Given the description of an element on the screen output the (x, y) to click on. 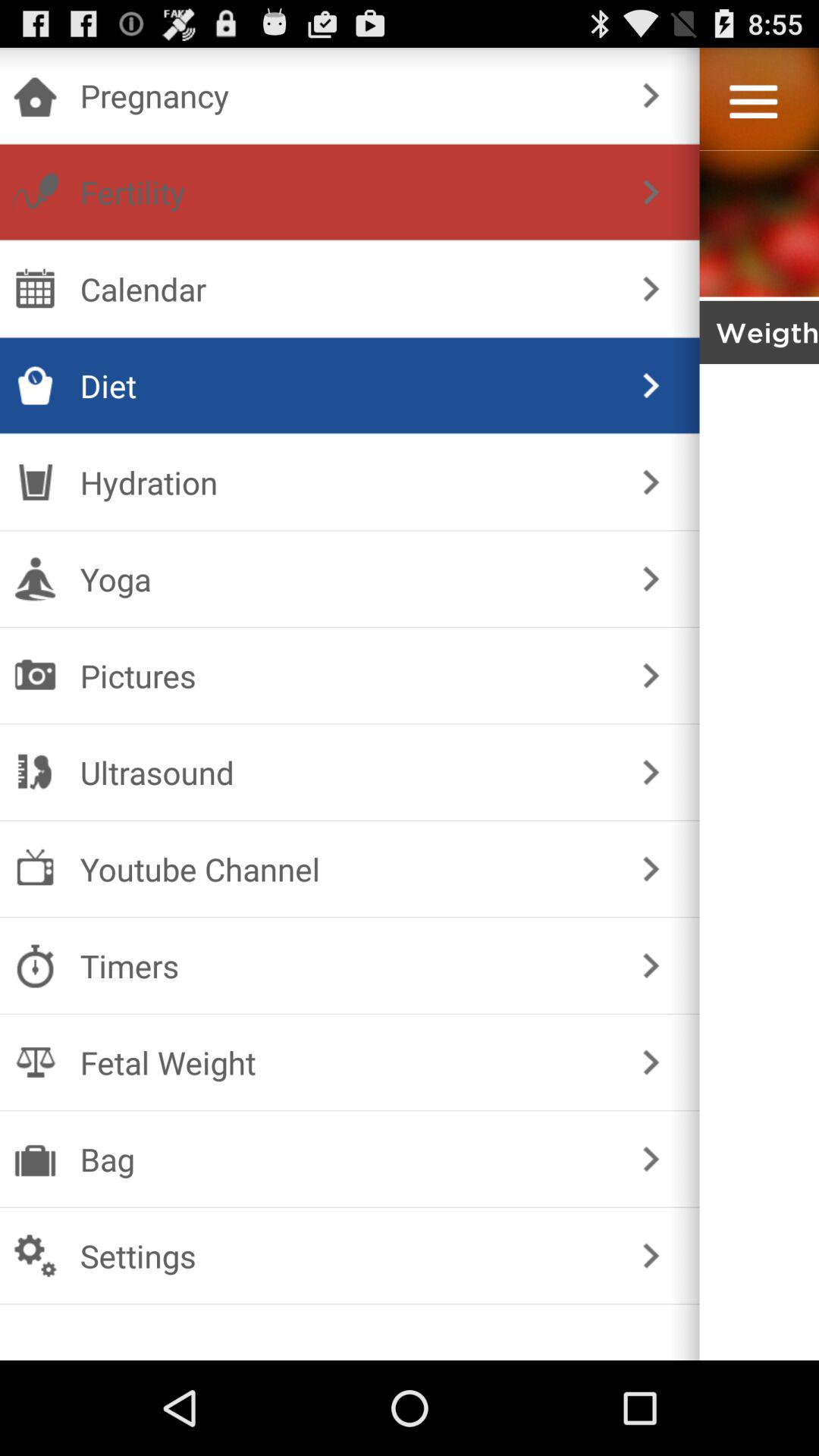
toggle the menu bar (753, 101)
